Given the description of an element on the screen output the (x, y) to click on. 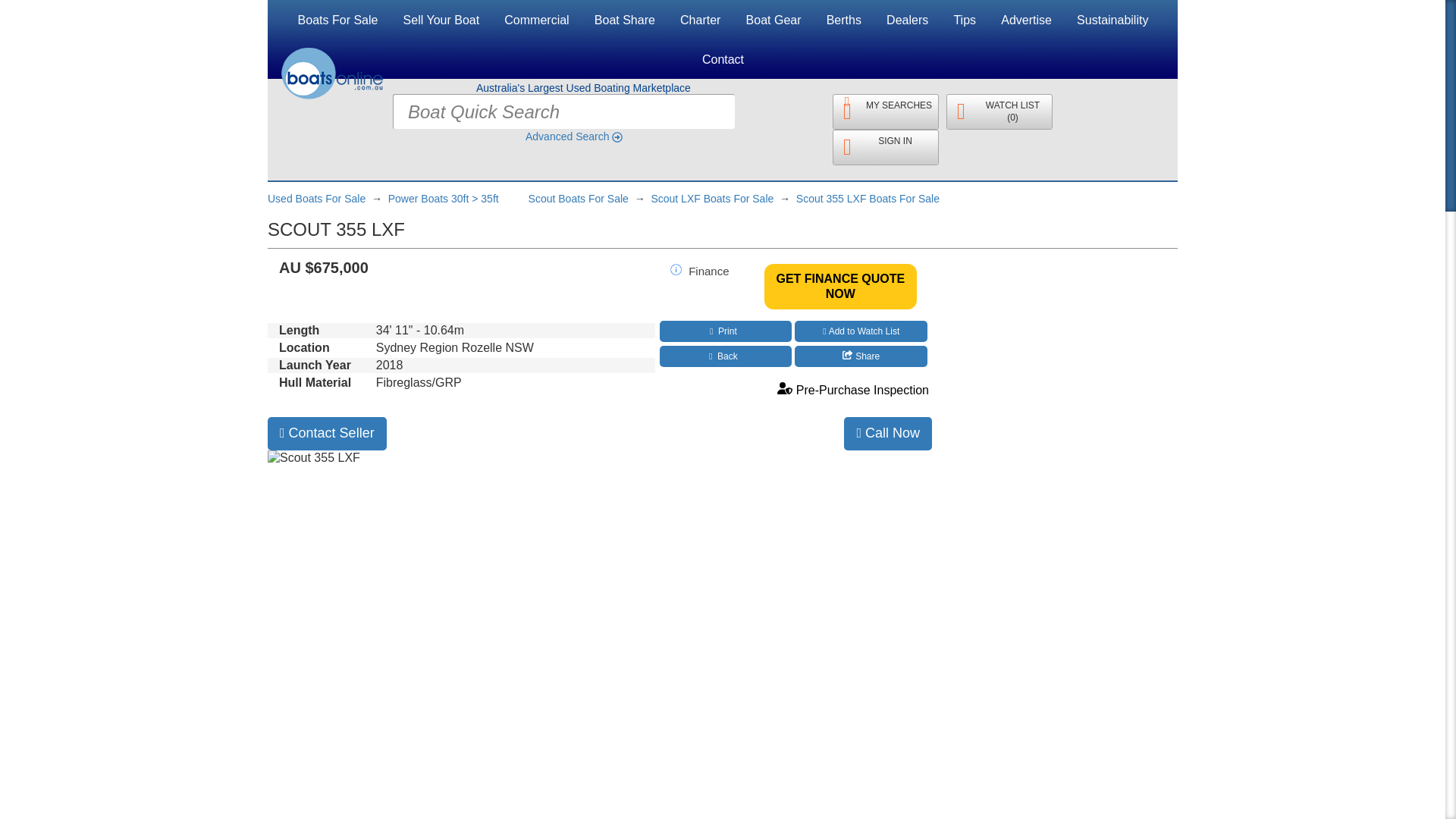
Charter (700, 19)
Keyword Search (762, 111)
Boat Share (624, 19)
Sell Your Boat (441, 19)
Commercial (536, 19)
Boats For Sale (338, 19)
